Given the description of an element on the screen output the (x, y) to click on. 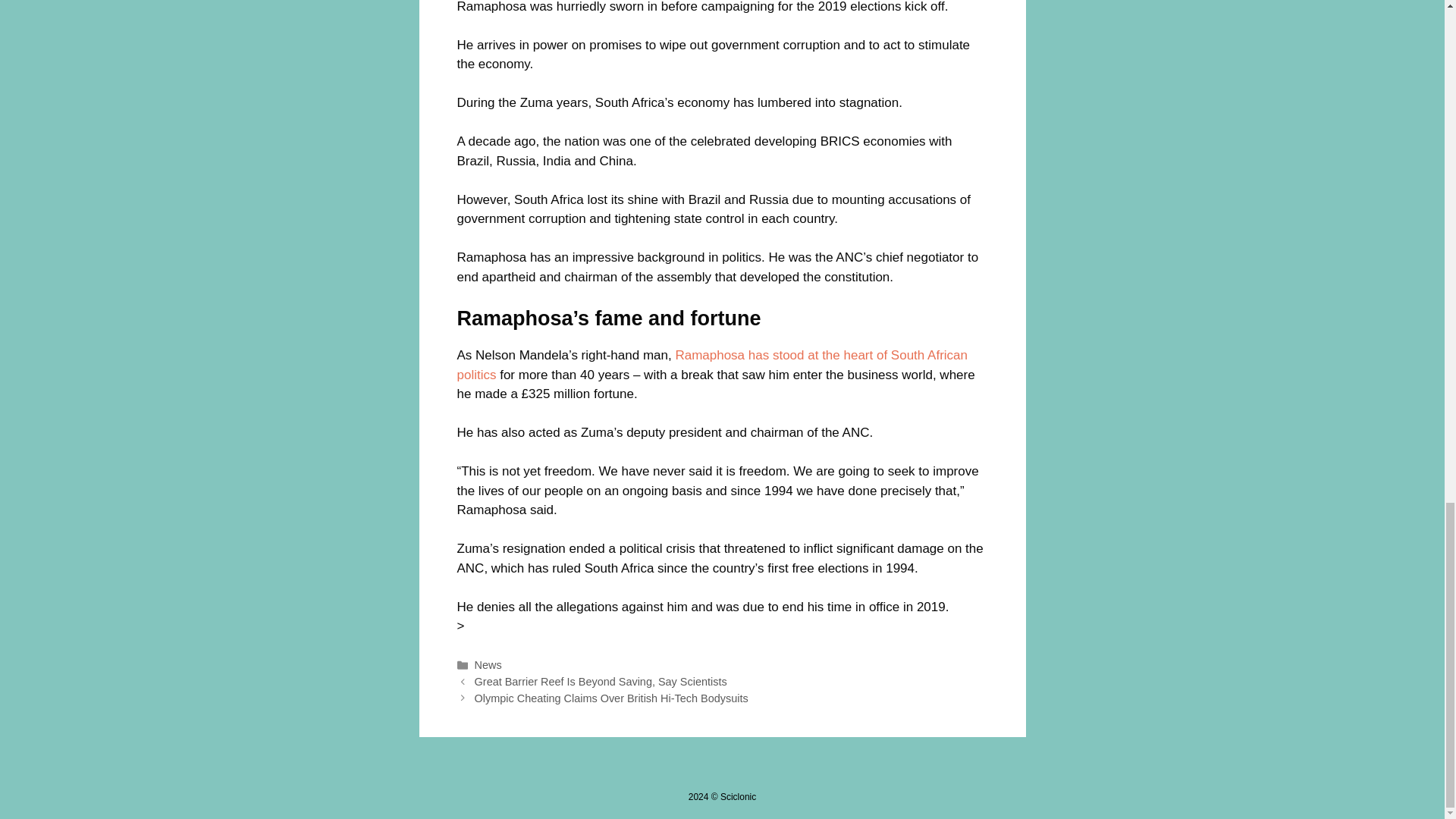
Ramaphosa has stood at the heart of South African politics (712, 365)
Olympic Cheating Claims Over British Hi-Tech Bodysuits (611, 698)
News (488, 664)
Great Barrier Reef Is Beyond Saving, Say Scientists (600, 681)
